Given the description of an element on the screen output the (x, y) to click on. 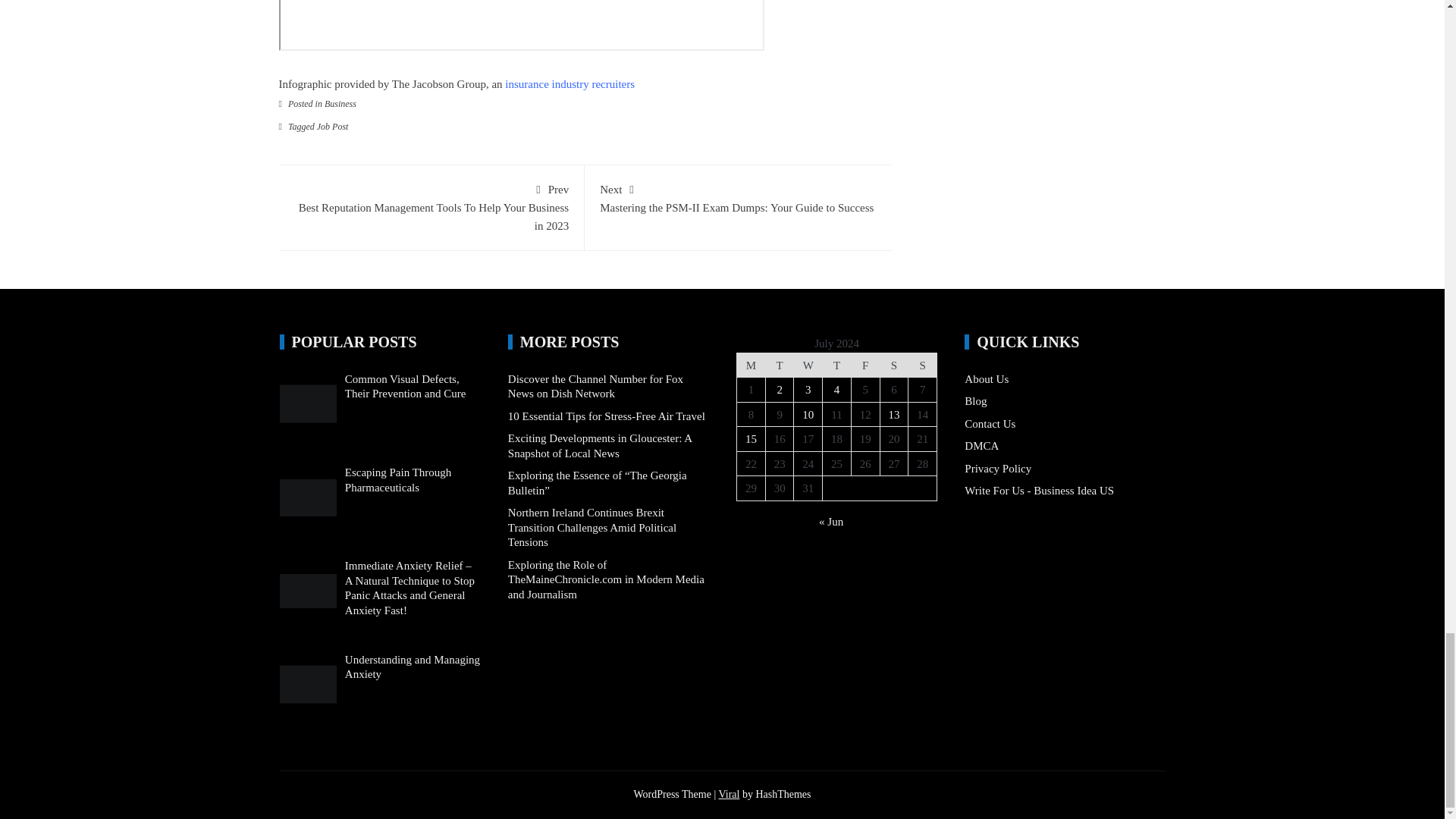
Sunday (922, 364)
Thursday (836, 364)
Wednesday (807, 364)
Download Viral (728, 794)
Saturday (893, 364)
Friday (864, 364)
Monday (750, 364)
Tuesday (779, 364)
